Given the description of an element on the screen output the (x, y) to click on. 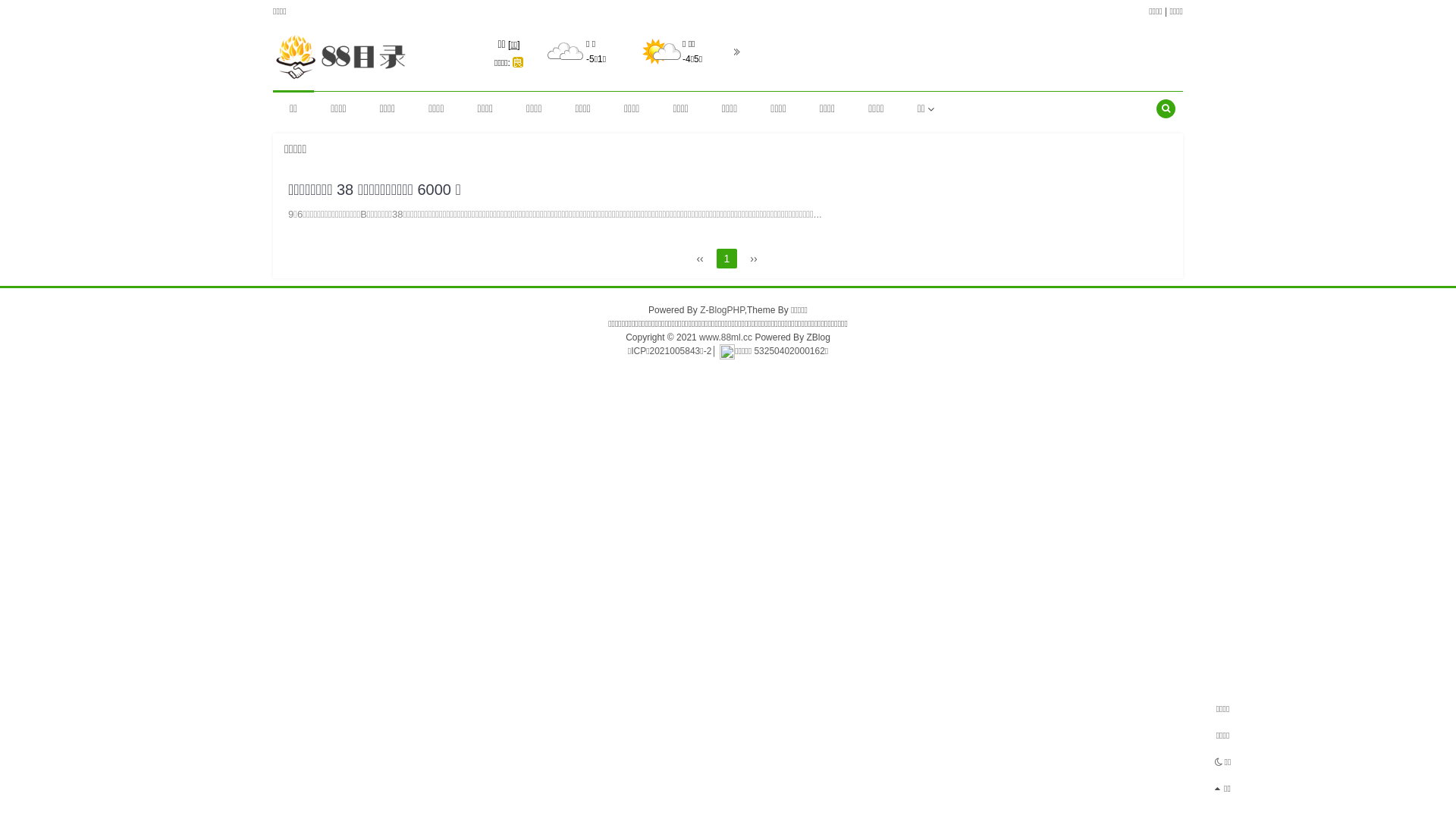
www.88ml.cc Element type: text (725, 337)
Z-BlogPHP Element type: text (721, 309)
